Given the description of an element on the screen output the (x, y) to click on. 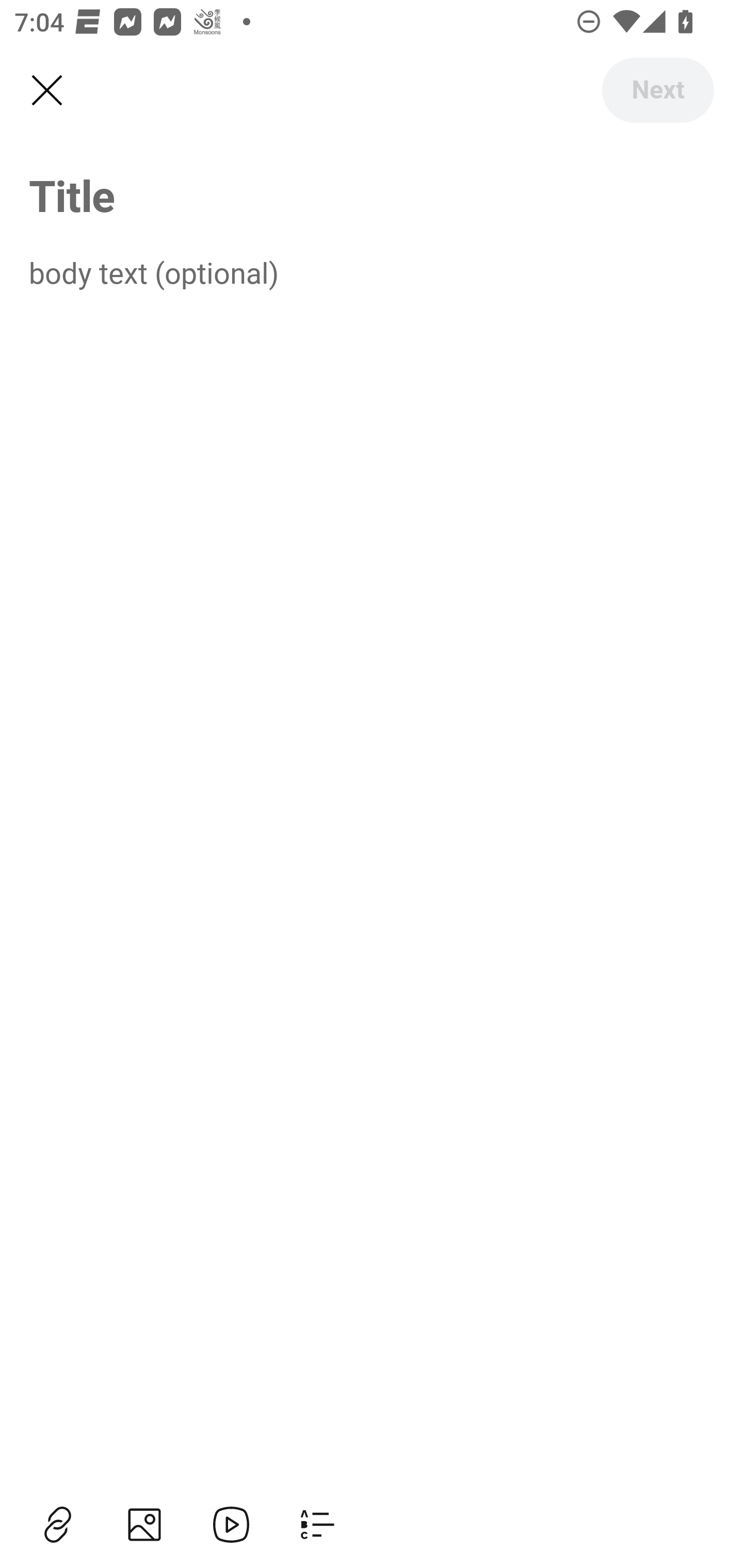
Close (46, 90)
Next (657, 90)
Post title (371, 195)
body text (optional) (371, 271)
